Given the description of an element on the screen output the (x, y) to click on. 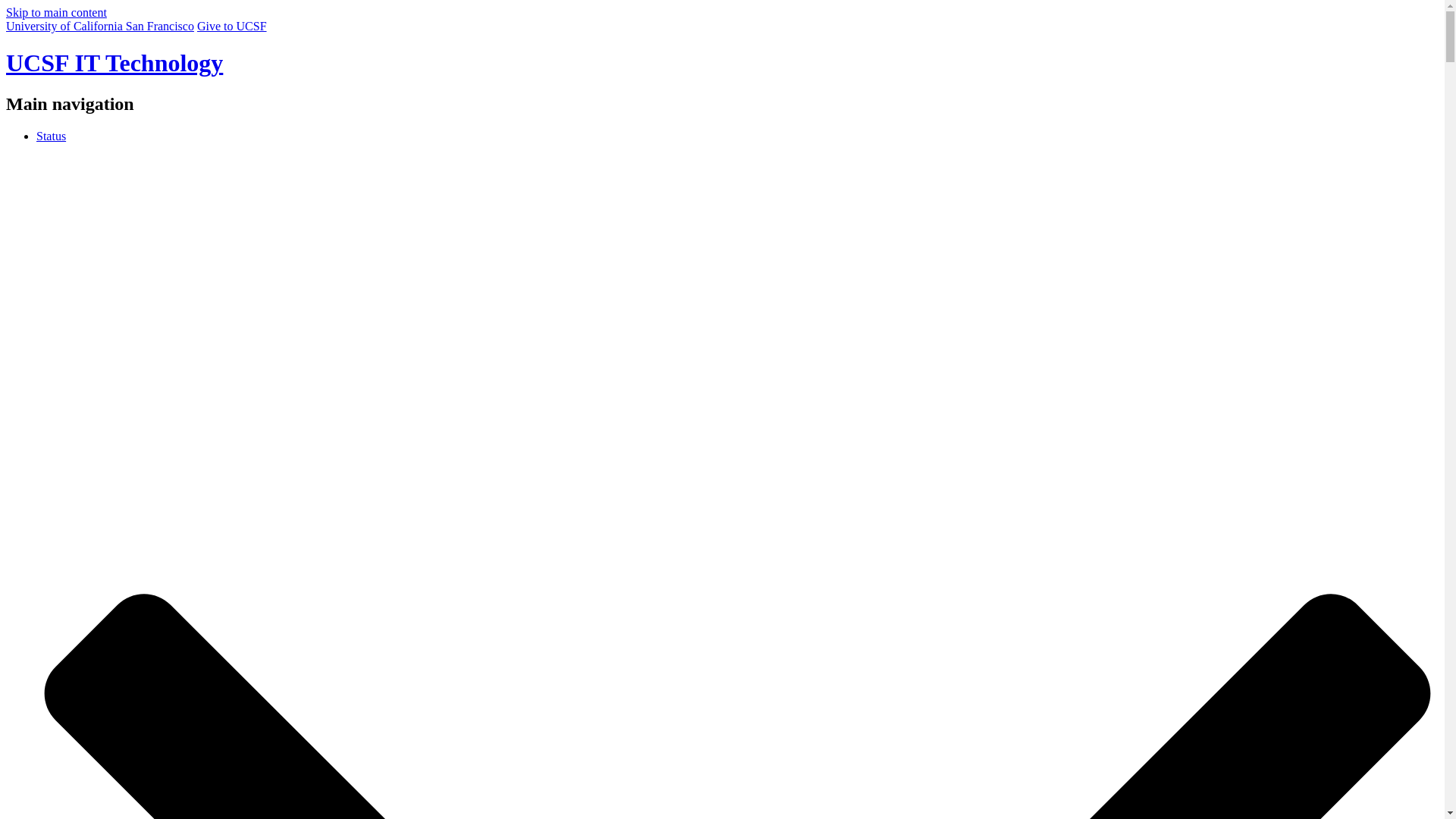
Give to UCSF (231, 25)
University of California San Francisco (99, 25)
Skip to main content (55, 11)
Status (50, 135)
